Given the description of an element on the screen output the (x, y) to click on. 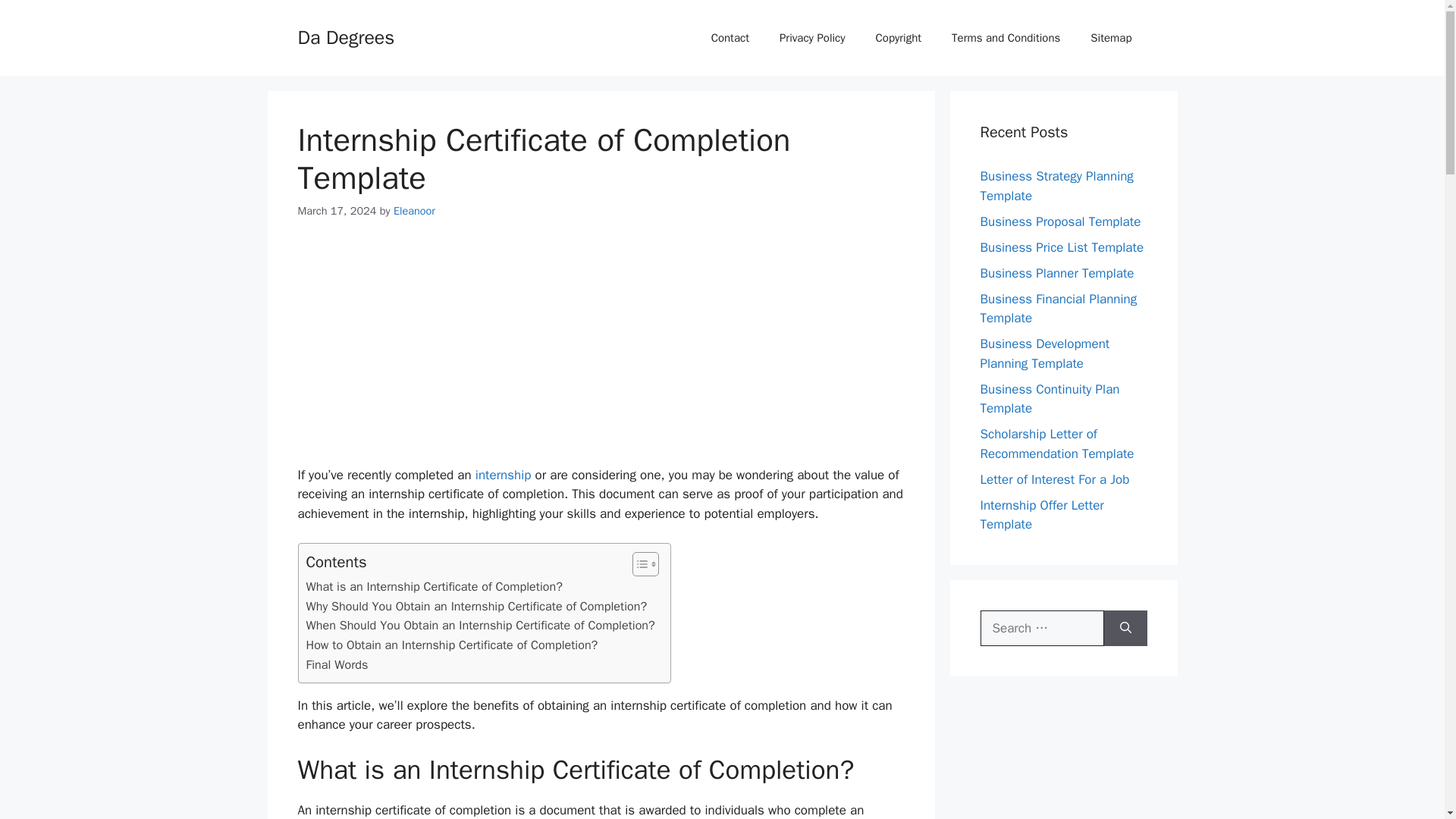
View all posts by Eleanoor (414, 210)
Eleanoor (414, 210)
Advertisement (601, 351)
Business Development Planning Template (1044, 353)
How to Obtain an Internship Certificate of Completion? (451, 645)
Business Strategy Planning Template (1055, 185)
Final Words (336, 664)
Da Degrees (345, 37)
What is an Internship Certificate of Completion? (433, 587)
Business Continuity Plan Template (1049, 398)
internship (503, 474)
Business Proposal Template (1059, 221)
Terms and Conditions (1005, 37)
Sitemap (1111, 37)
Business Financial Planning Template (1058, 308)
